Given the description of an element on the screen output the (x, y) to click on. 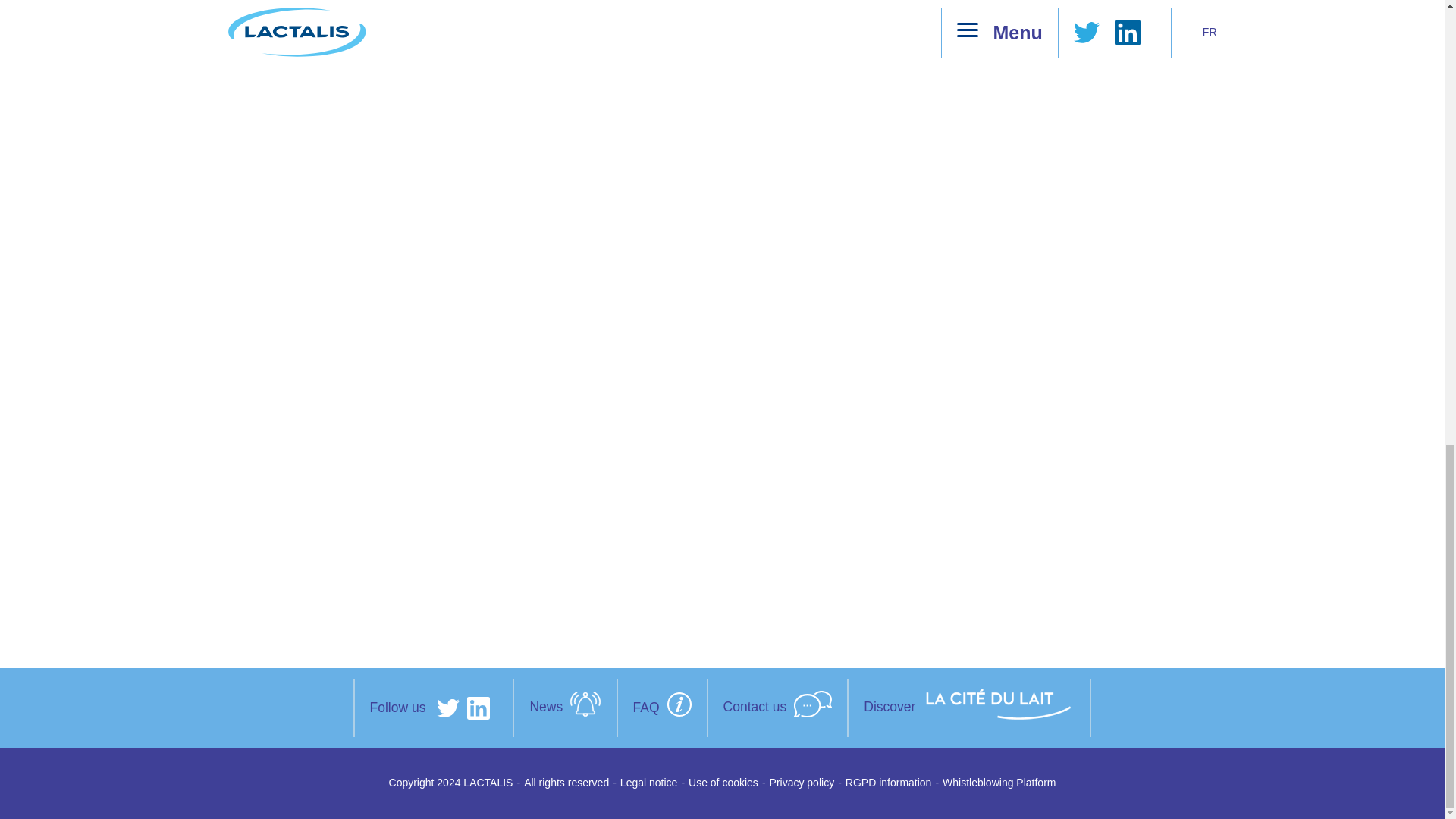
Discover (968, 707)
Contact us (777, 707)
Use of cookies (723, 782)
Legal notice (649, 782)
FAQ (662, 707)
News (564, 707)
Privacy policy (802, 782)
